Given the description of an element on the screen output the (x, y) to click on. 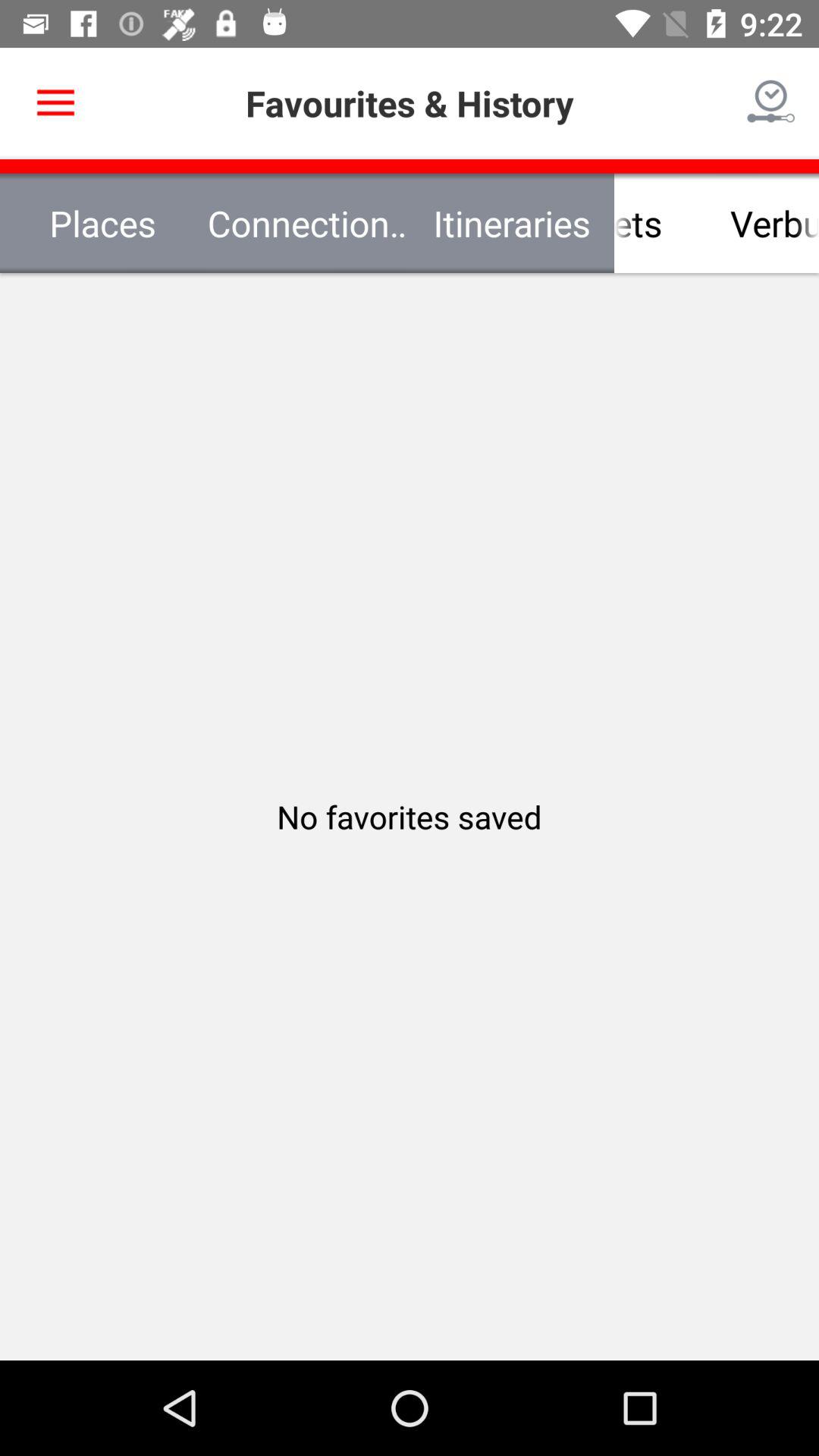
swipe to the connection requests item (306, 223)
